Given the description of an element on the screen output the (x, y) to click on. 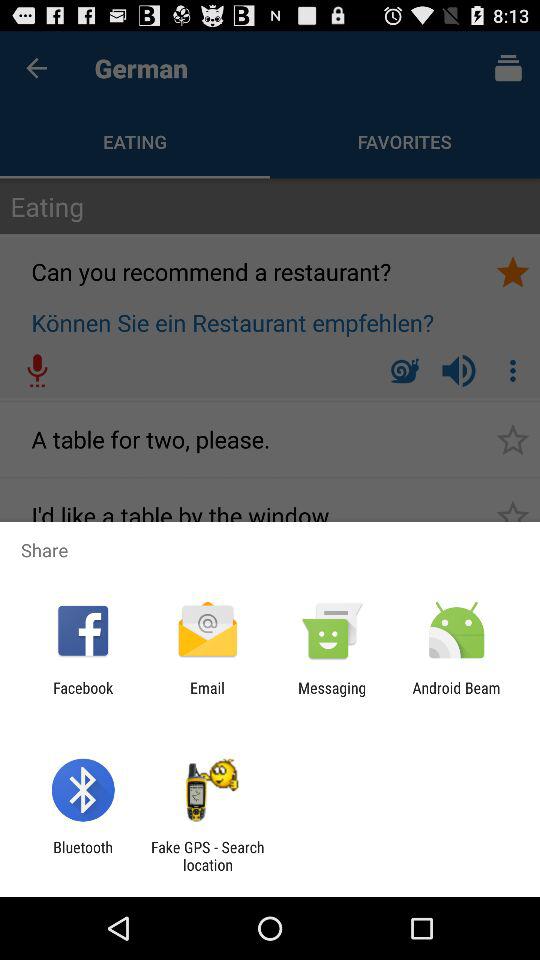
tap icon next to android beam (332, 696)
